Given the description of an element on the screen output the (x, y) to click on. 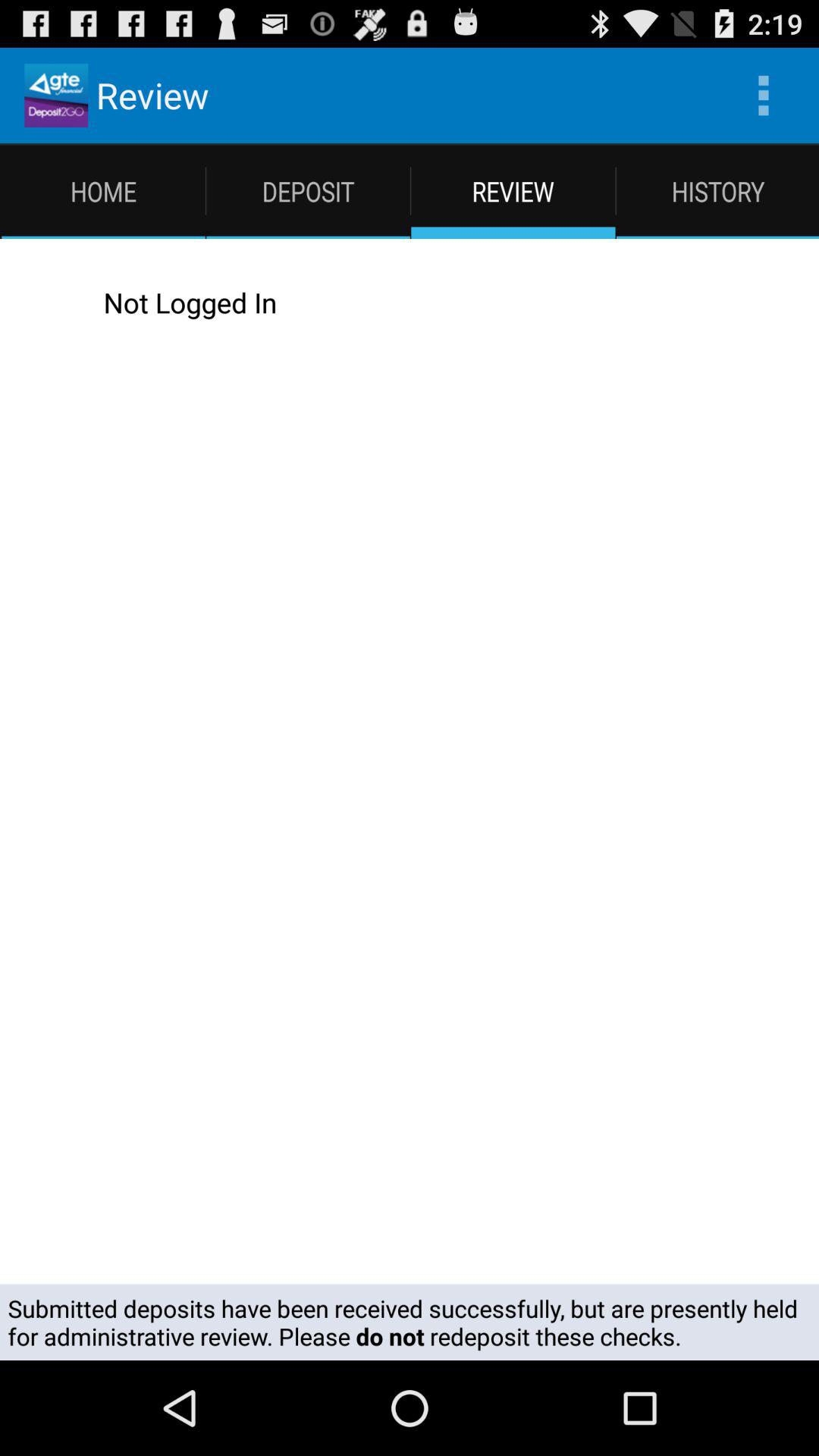
tap the item above the history app (763, 95)
